Given the description of an element on the screen output the (x, y) to click on. 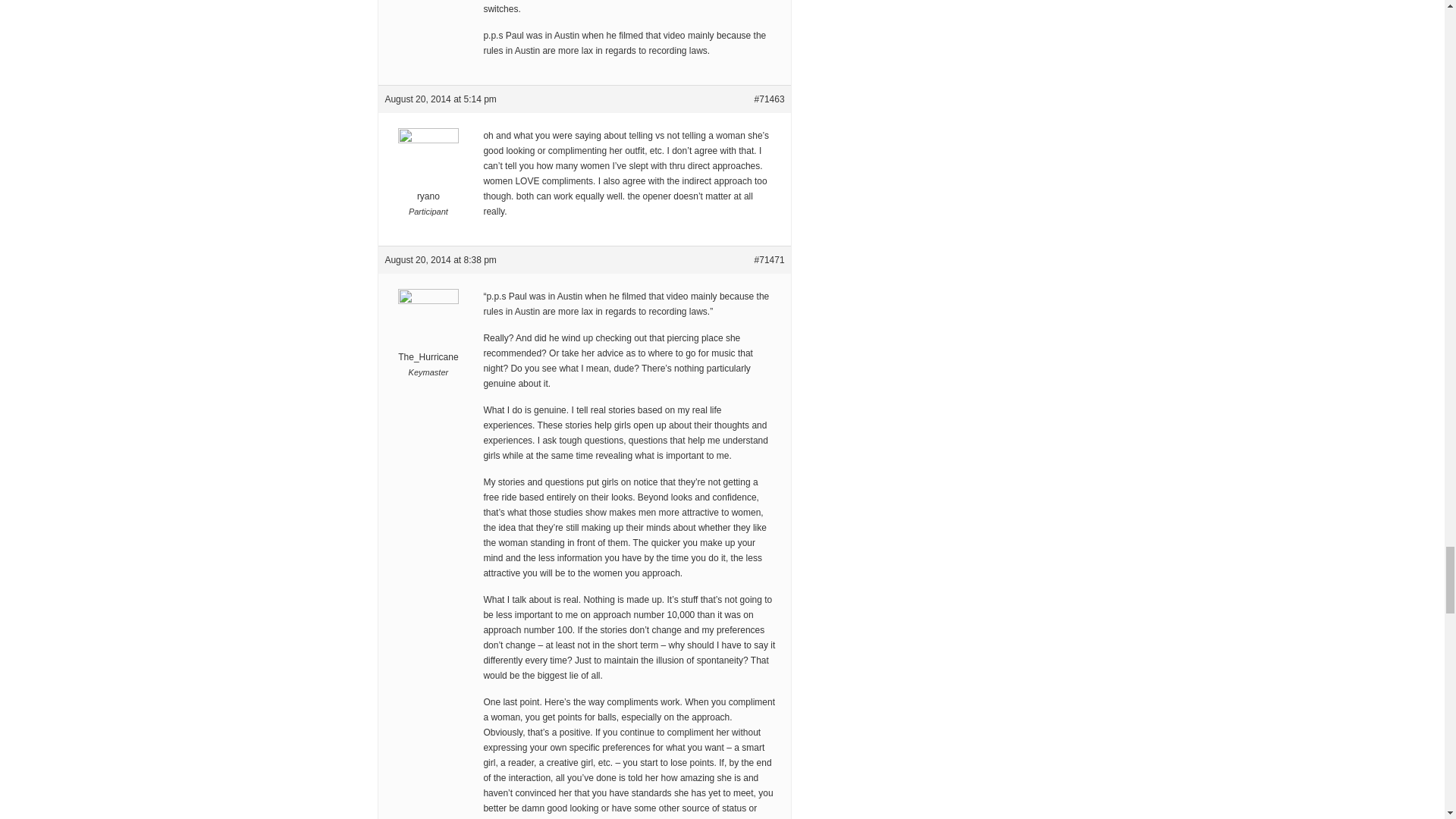
View ryano's profile (427, 175)
